Given the description of an element on the screen output the (x, y) to click on. 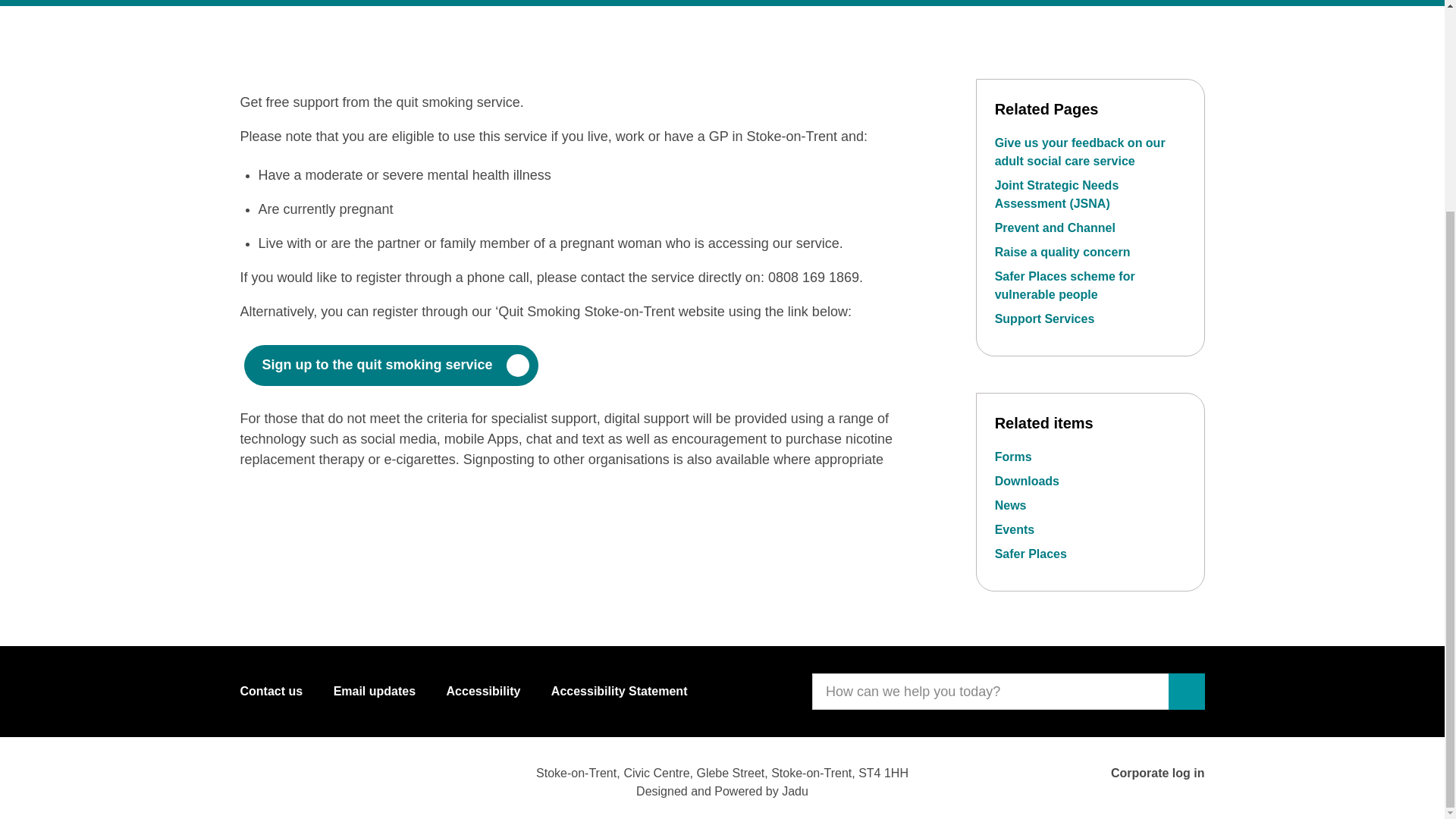
News (1010, 504)
YouTube (297, 776)
Give us your feedback on our adult social care service (1080, 151)
Sign up to the quit smoking service (391, 364)
twitter (339, 776)
Contact us (271, 690)
Email updates (373, 690)
Accessibility Statement (619, 690)
Facebook (254, 776)
Jadu (794, 790)
